Given the description of an element on the screen output the (x, y) to click on. 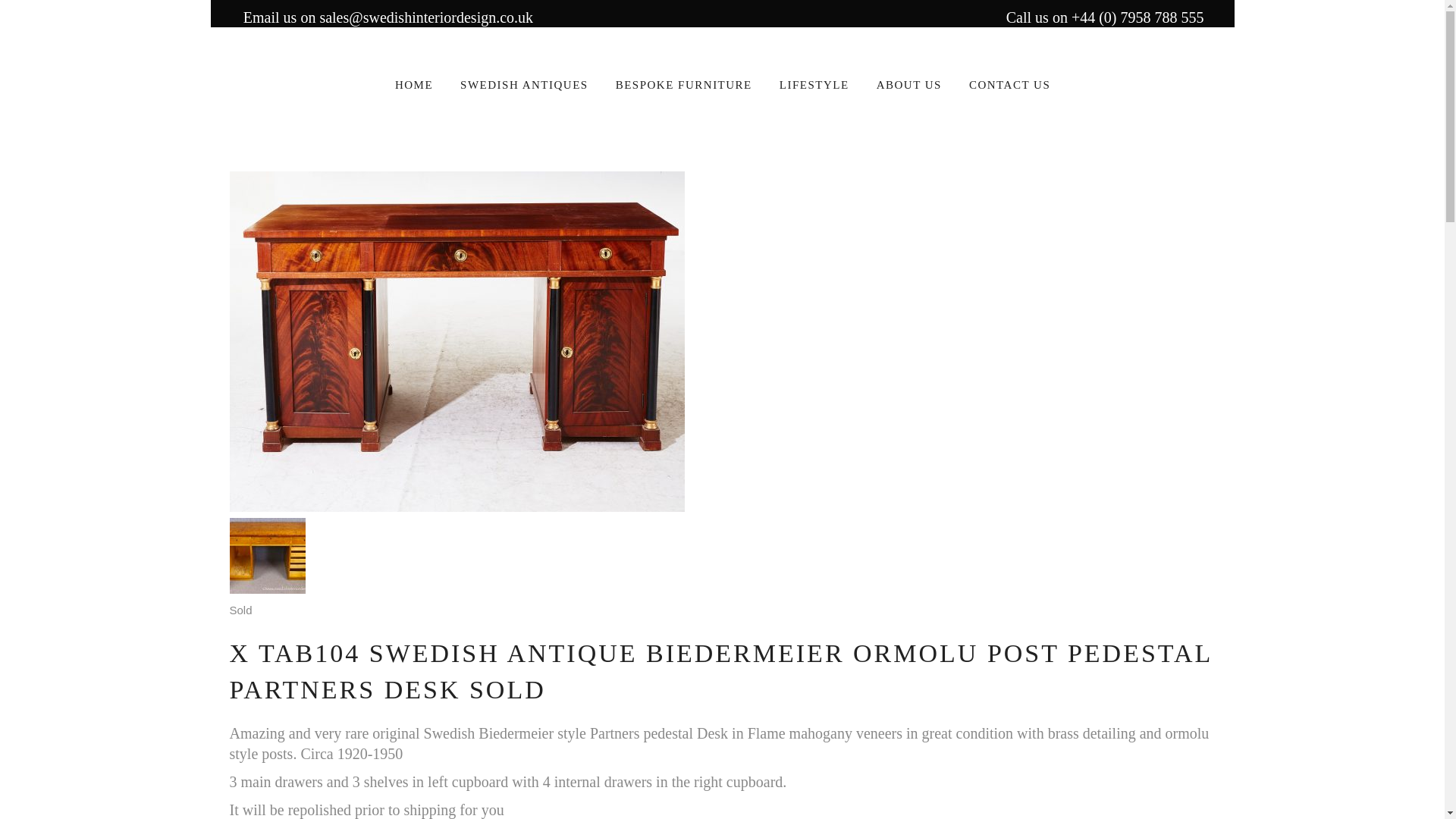
BESPOKE FURNITURE (683, 83)
TAB61 Swedish Art Deco Inlaid Pedestal Desk 2 (266, 555)
SWEDISH ANTIQUES (524, 83)
